Given the description of an element on the screen output the (x, y) to click on. 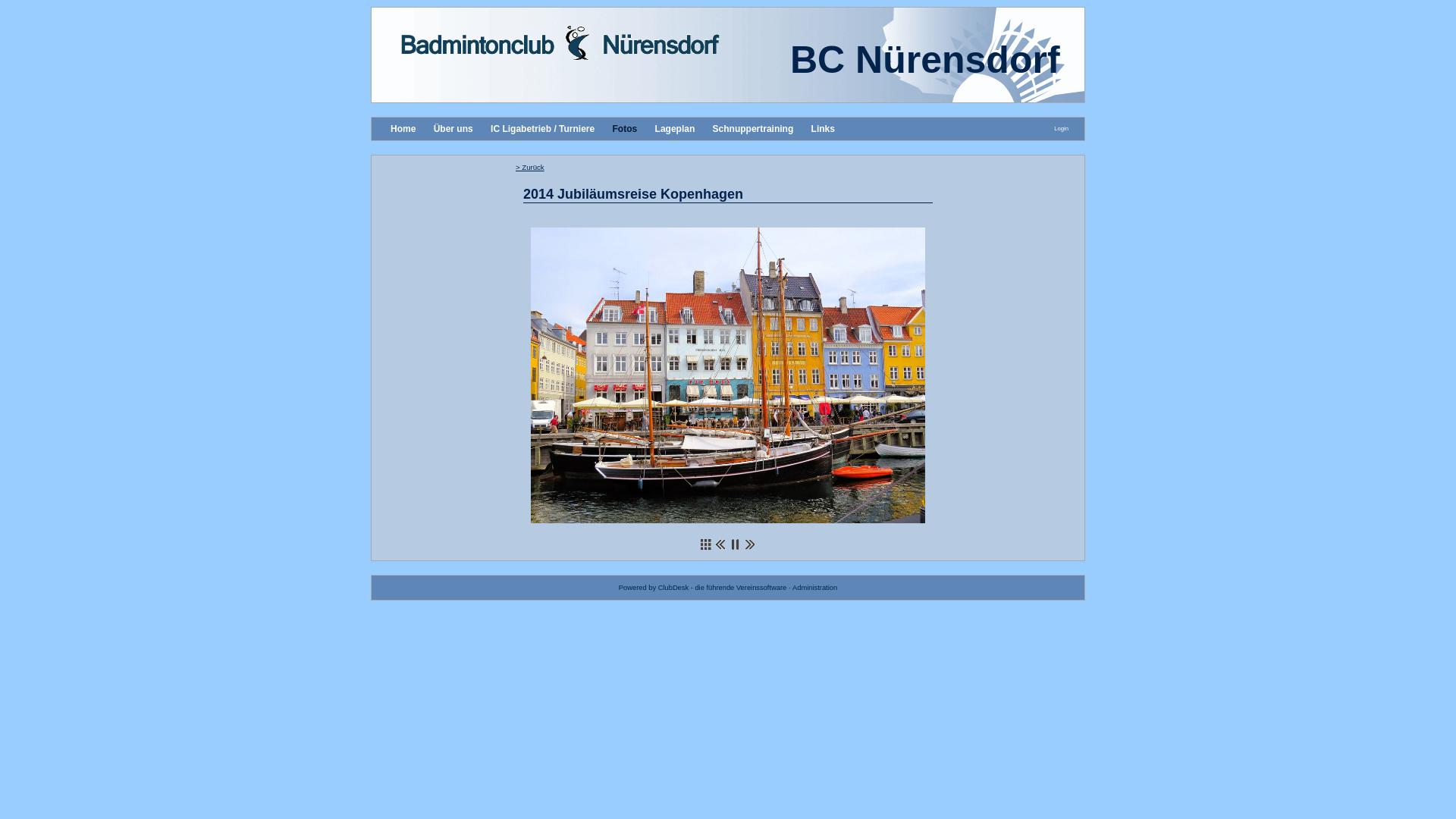
Home Element type: text (402, 128)
Schnuppertraining Element type: text (752, 128)
Links Element type: text (822, 128)
IC Ligabetrieb / Turniere Element type: text (542, 128)
Administration Element type: text (814, 587)
Lageplan Element type: text (675, 128)
Login Element type: text (1061, 128)
Fotos Element type: text (624, 128)
